Given the description of an element on the screen output the (x, y) to click on. 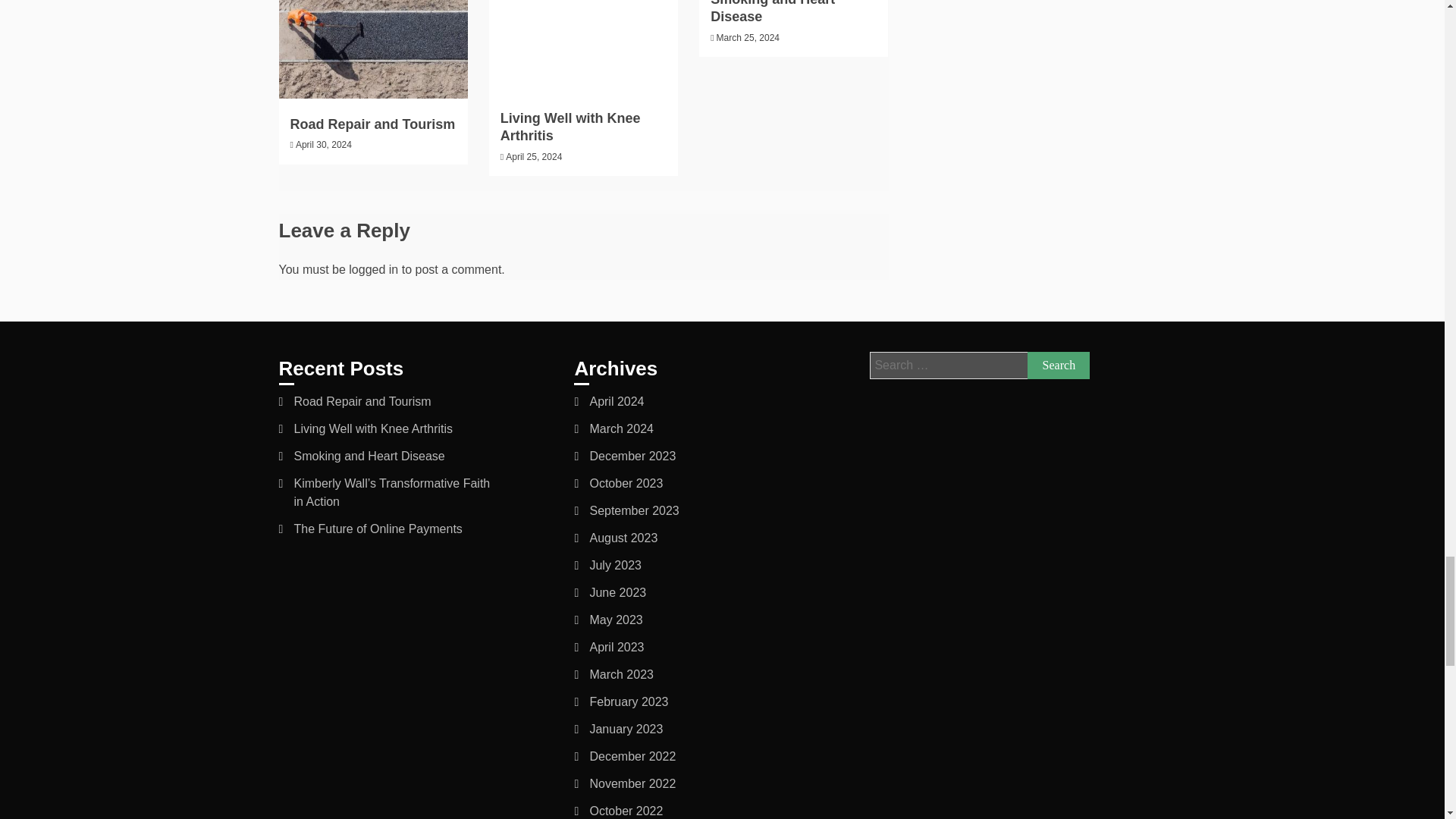
Search (1058, 365)
April 30, 2024 (323, 144)
Living Well with Knee Arthritis (570, 126)
Search (1058, 365)
Road Repair and Tourism (371, 124)
